Given the description of an element on the screen output the (x, y) to click on. 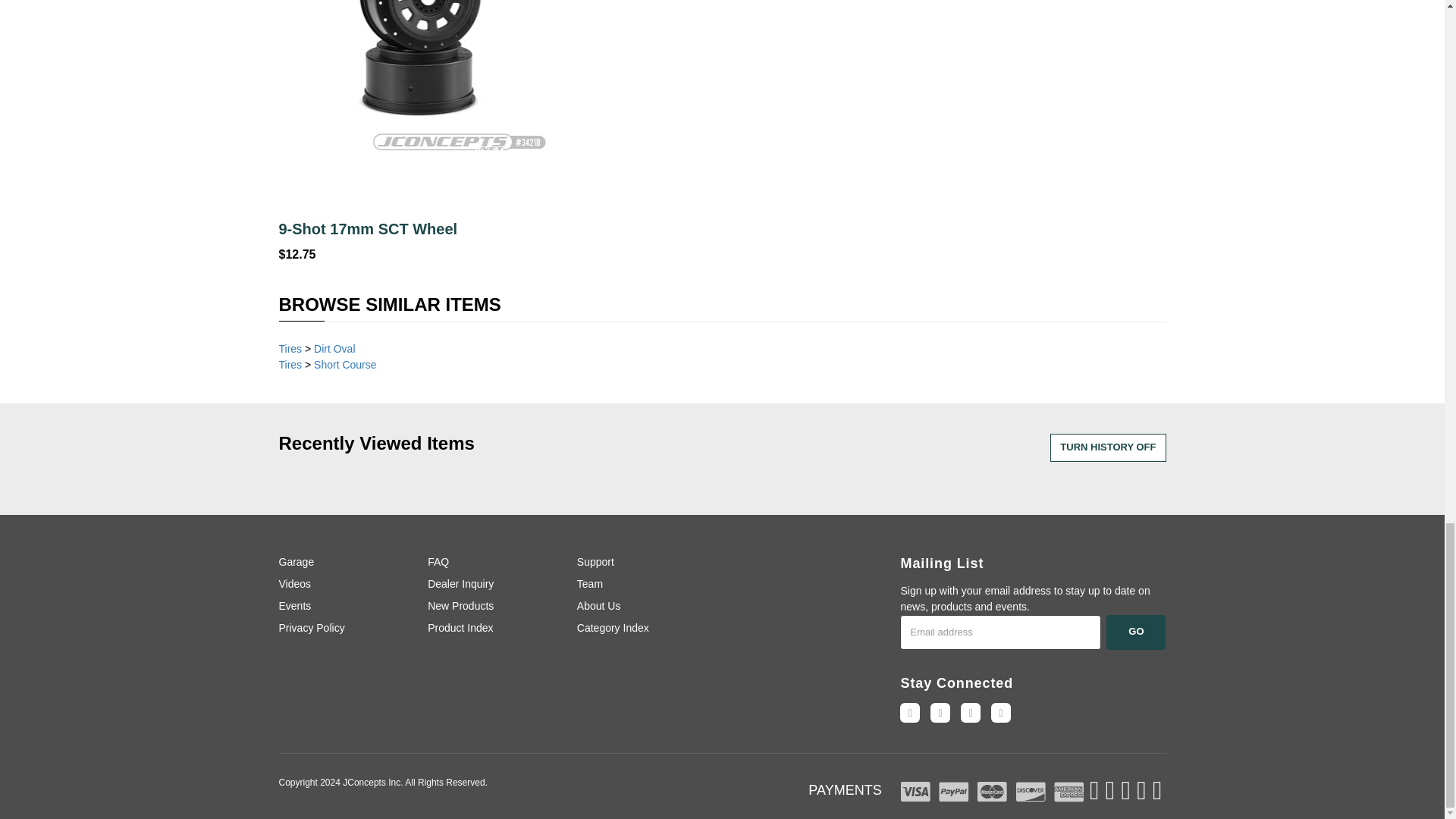
Like Us on Facebook (909, 712)
Subscribe to our Blog (1000, 712)
Follow Us on Instagram (969, 712)
Subscribe to our Channel (940, 712)
